Given the description of an element on the screen output the (x, y) to click on. 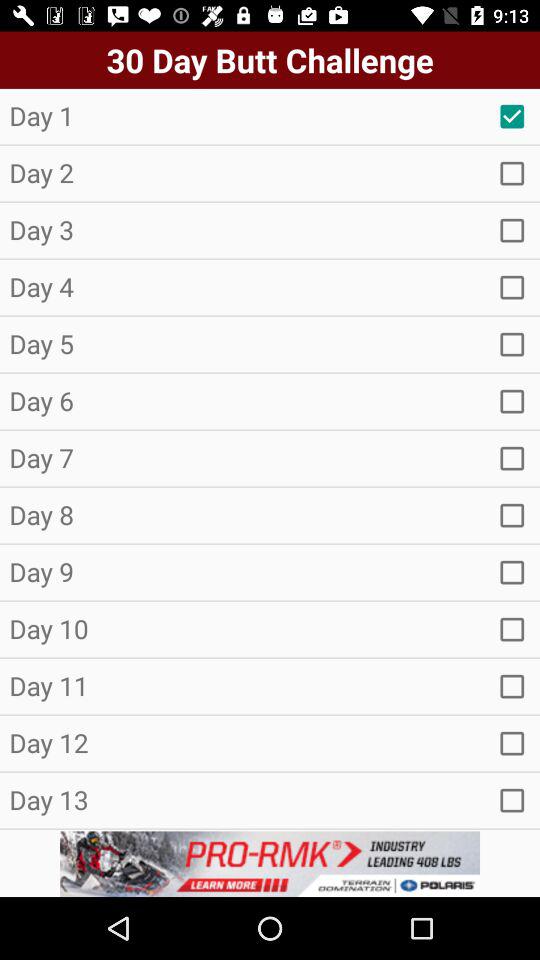
empty box option (512, 800)
